Given the description of an element on the screen output the (x, y) to click on. 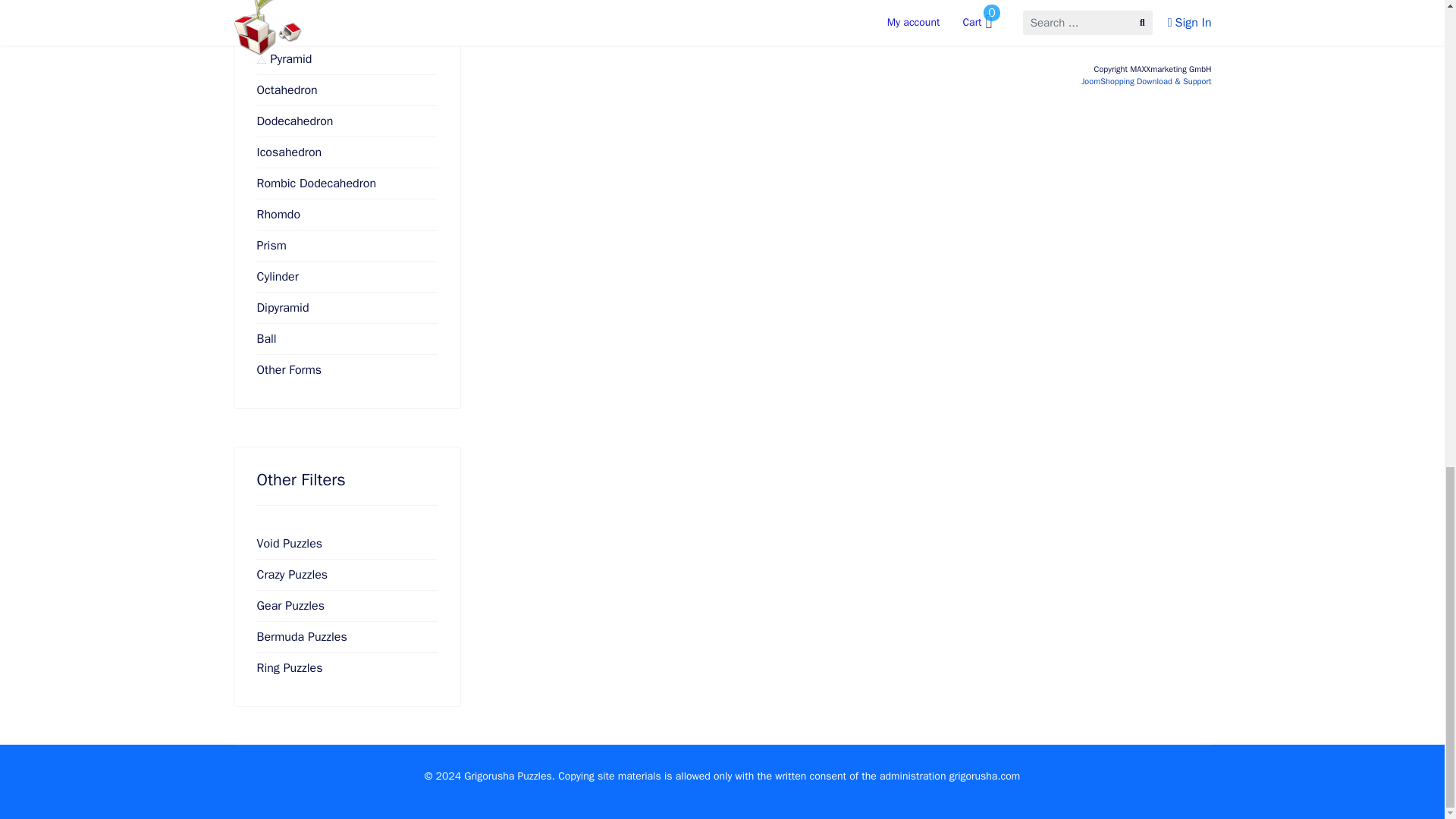
Cube (346, 6)
Add to cart (716, 5)
Pyramid (346, 59)
Cuboid (346, 28)
Dodecahedron (346, 121)
Octahedron (346, 90)
Add to wishlist (807, 5)
Back (506, 32)
1 (601, 5)
